Given the description of an element on the screen output the (x, y) to click on. 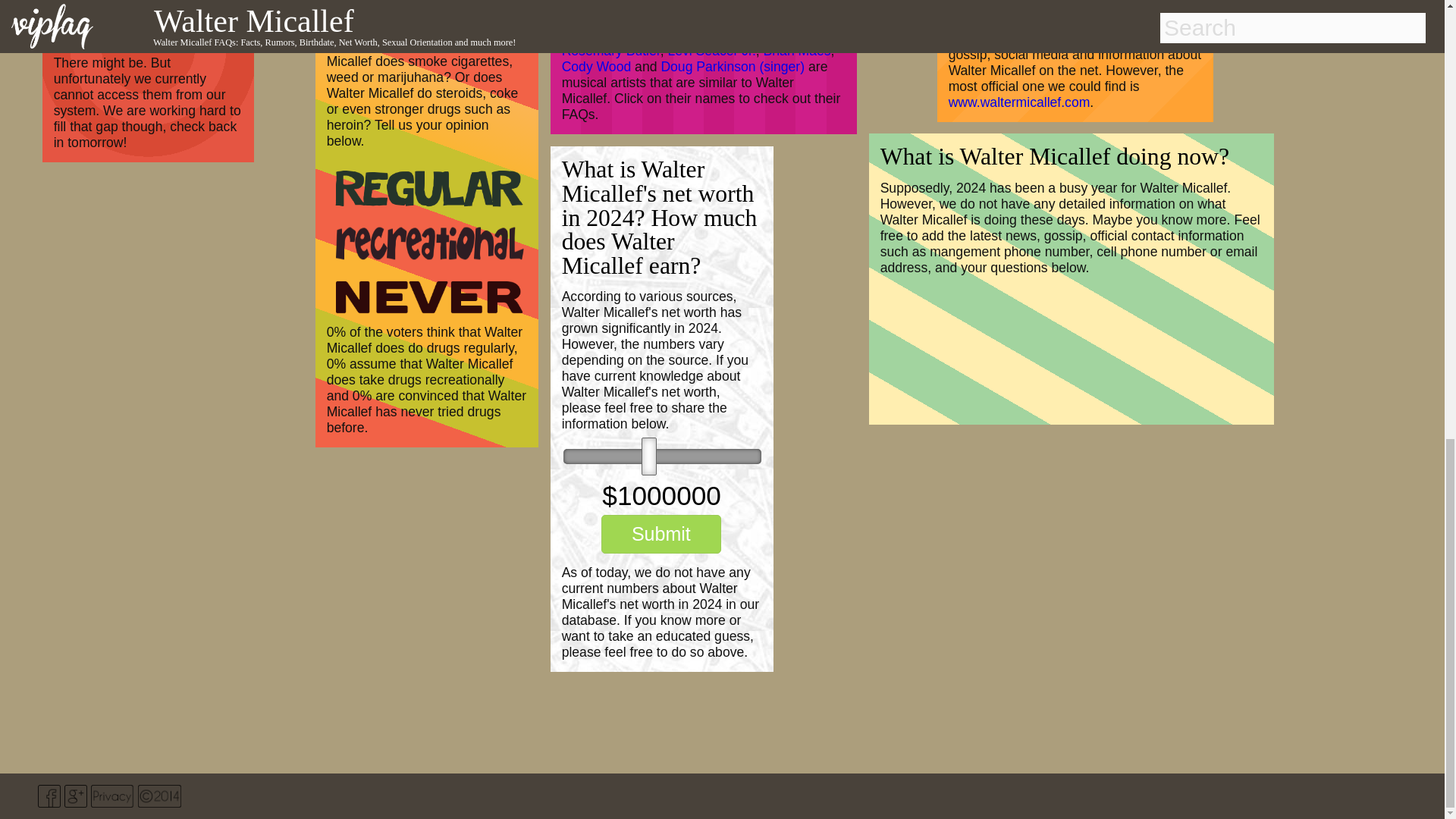
Submit (660, 534)
Brian Maes (796, 50)
Cody Wood (596, 66)
www.waltermicallef.com (1019, 102)
Levi Seacer Jr. (710, 50)
Rosemary Butler (611, 50)
6 (662, 456)
